Given the description of an element on the screen output the (x, y) to click on. 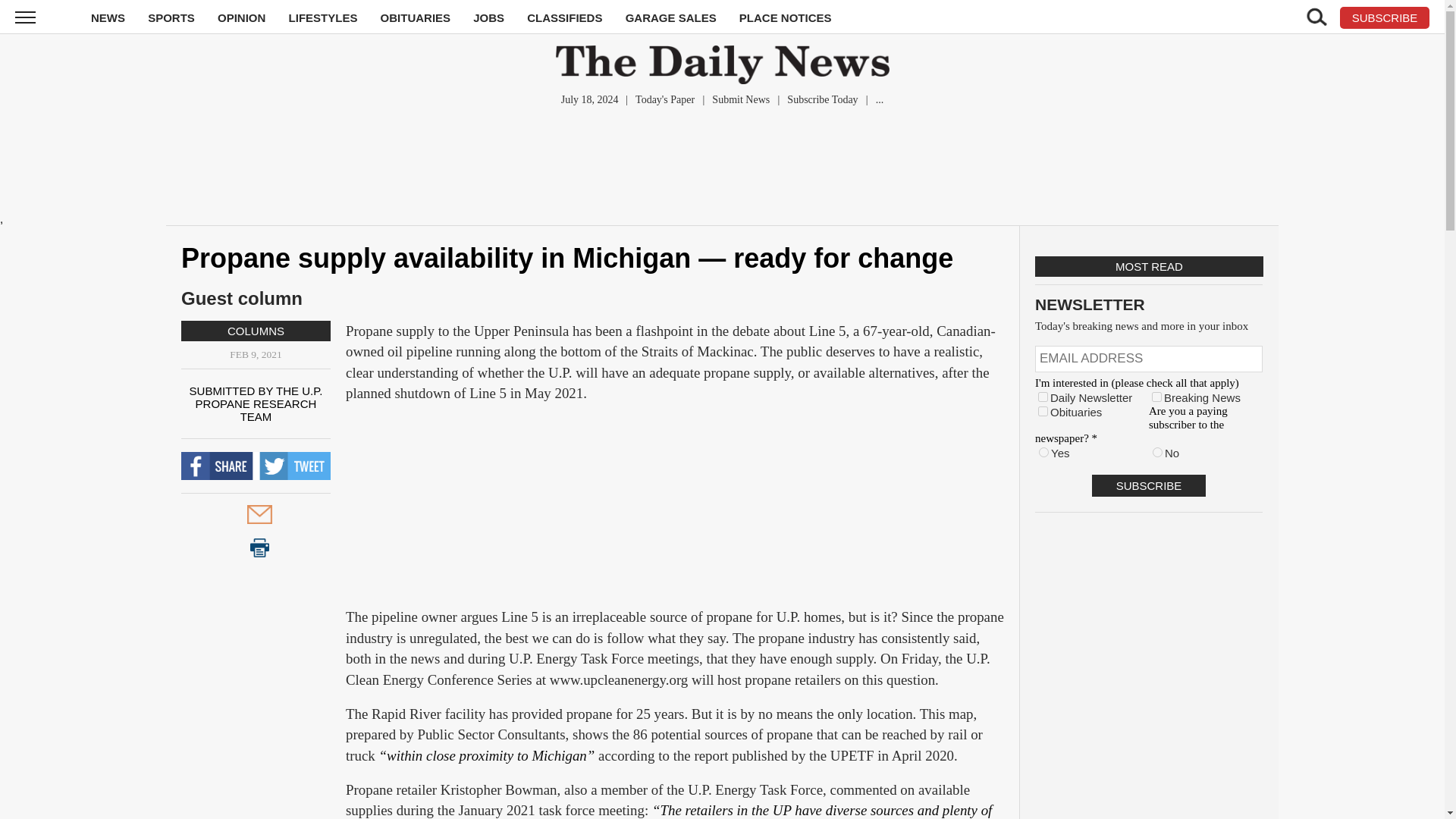
3rd party ad content (721, 162)
2 (1156, 397)
View all posts in Columns (255, 330)
Yes (1043, 452)
1 (1043, 397)
SPORTS (171, 17)
Subscribe (1148, 485)
4 (1043, 411)
No (1157, 452)
OBITUARIES (415, 17)
3rd party ad content (674, 511)
NEWS (107, 17)
OPINION (240, 17)
LIFESTYLES (323, 17)
